Given the description of an element on the screen output the (x, y) to click on. 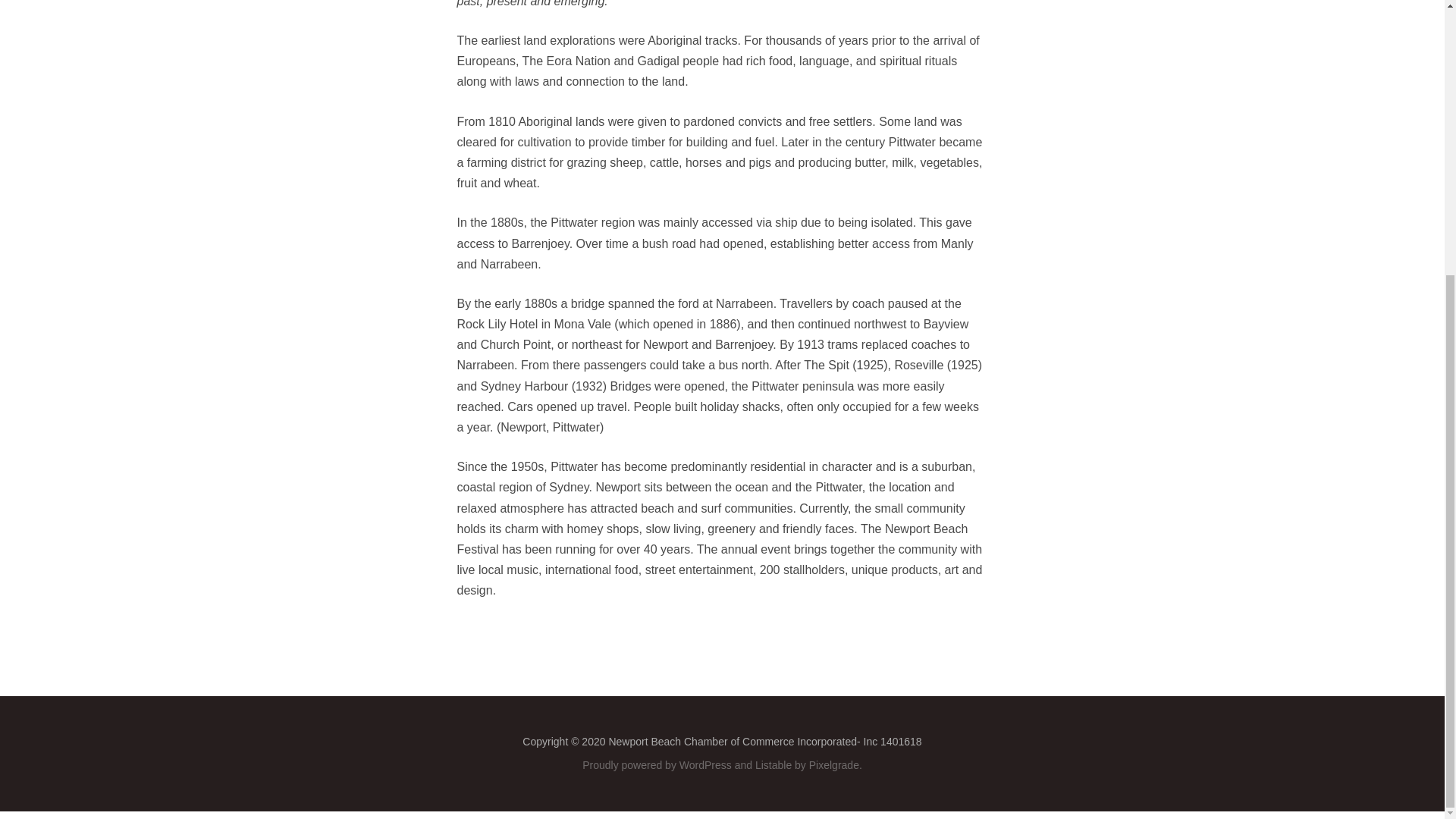
Pixelgrade (834, 765)
Listable (773, 765)
Proudly powered by WordPress (657, 765)
